Given the description of an element on the screen output the (x, y) to click on. 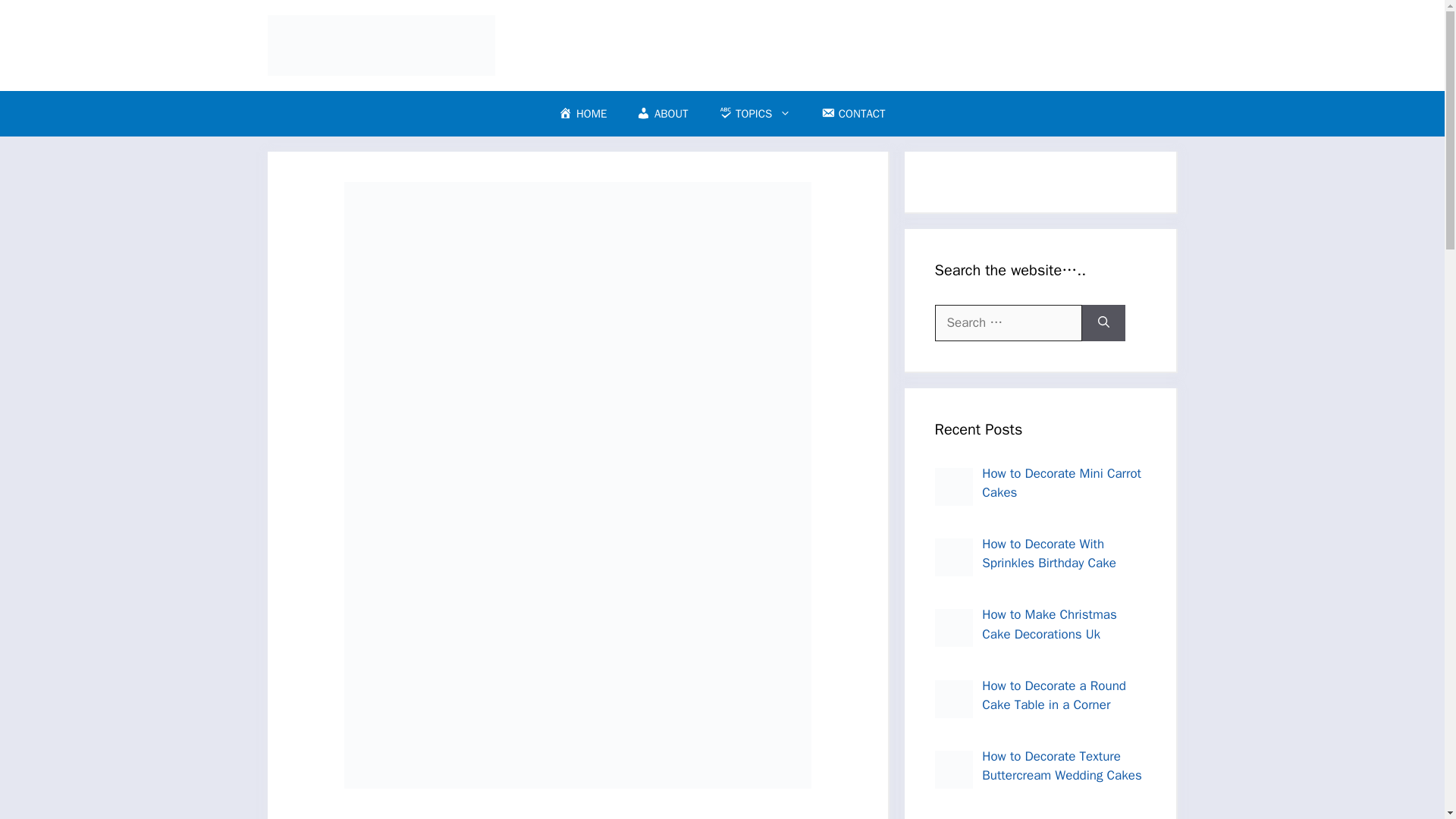
ABOUT (662, 113)
TOPICS (754, 113)
HOME (582, 113)
